Given the description of an element on the screen output the (x, y) to click on. 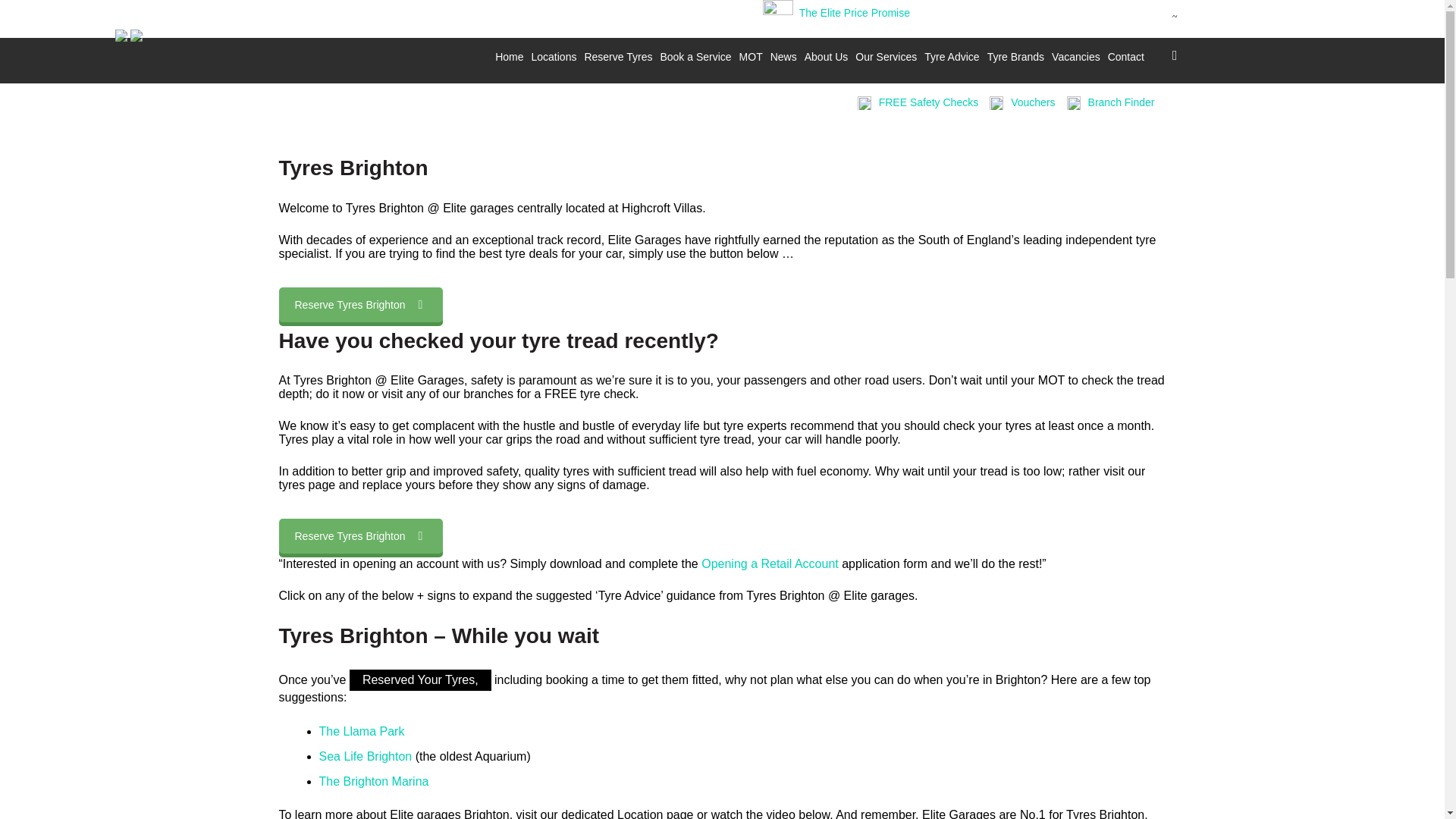
Reserve Tyres (617, 56)
Our Services (886, 56)
Locations (553, 56)
About Us (826, 56)
 The Elite Price Promise (853, 12)
Book a Service (694, 56)
